Given the description of an element on the screen output the (x, y) to click on. 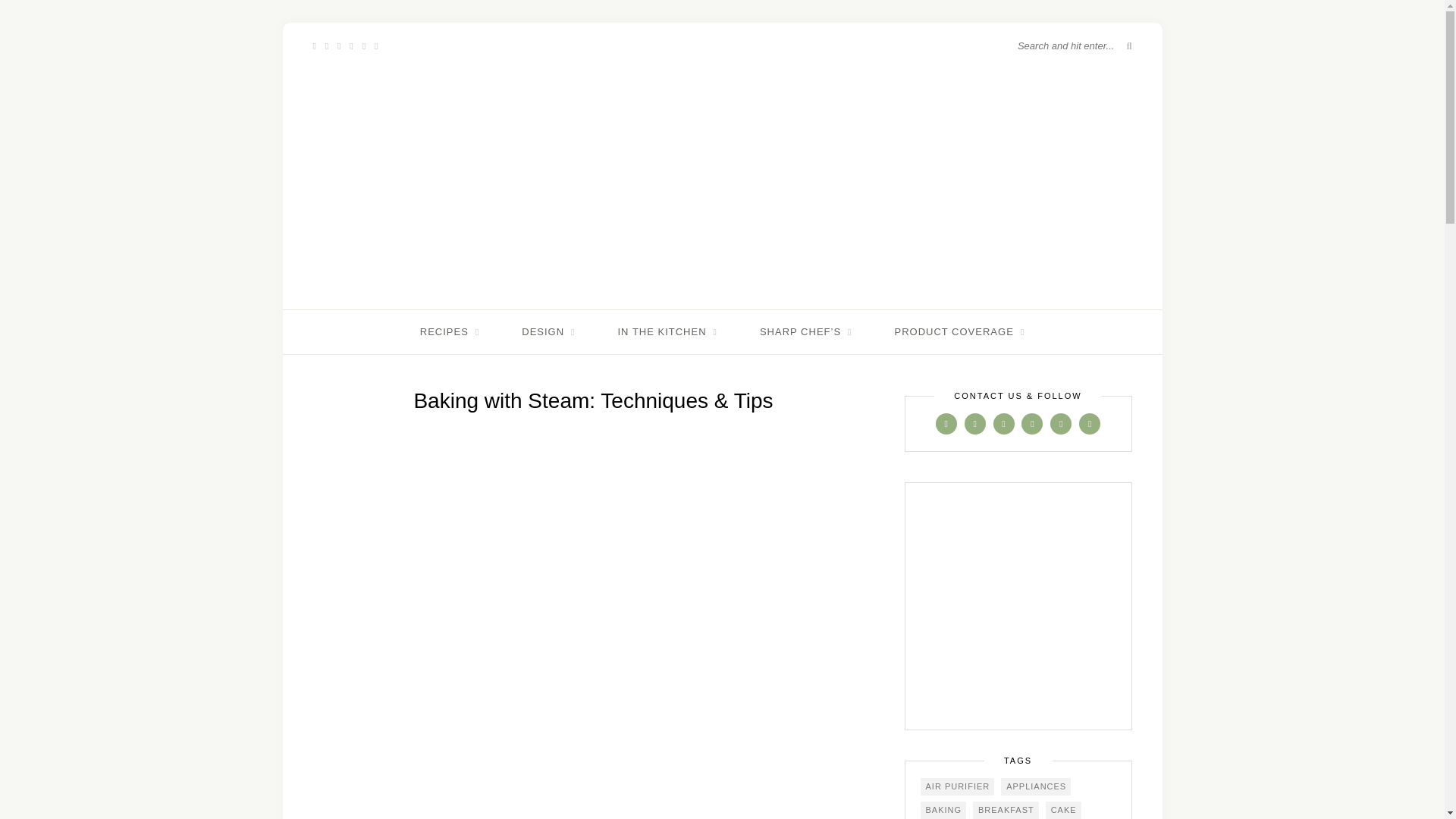
DESIGN (548, 331)
PRODUCT COVERAGE (959, 331)
RECIPES (449, 331)
IN THE KITCHEN (666, 331)
